Given the description of an element on the screen output the (x, y) to click on. 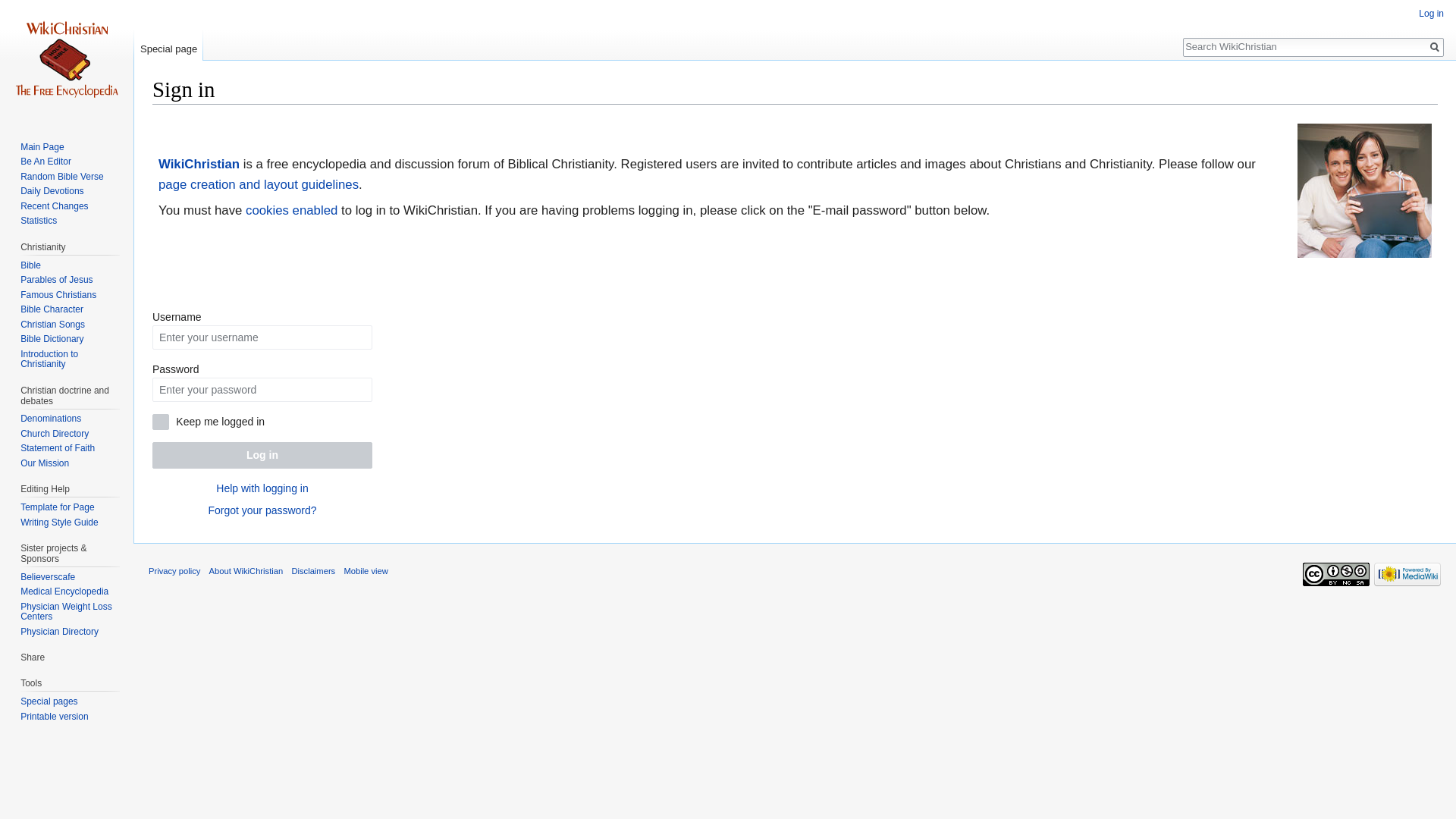
Church Directory (54, 433)
Random Bible Verse (61, 176)
Help with logging in (261, 488)
Log in (262, 455)
WikiChristian (199, 164)
Physician Directory (59, 631)
Medical Encyclopedia (63, 591)
WikiChristian:About (199, 164)
Parables of Jesus (56, 279)
Special page (168, 45)
Statement of Faith (57, 448)
WikiChristian:Privacy policy (174, 570)
Go (1434, 46)
Physician Weight Loss Centers (66, 611)
This is a special page, and it cannot be edited (168, 45)
